Given the description of an element on the screen output the (x, y) to click on. 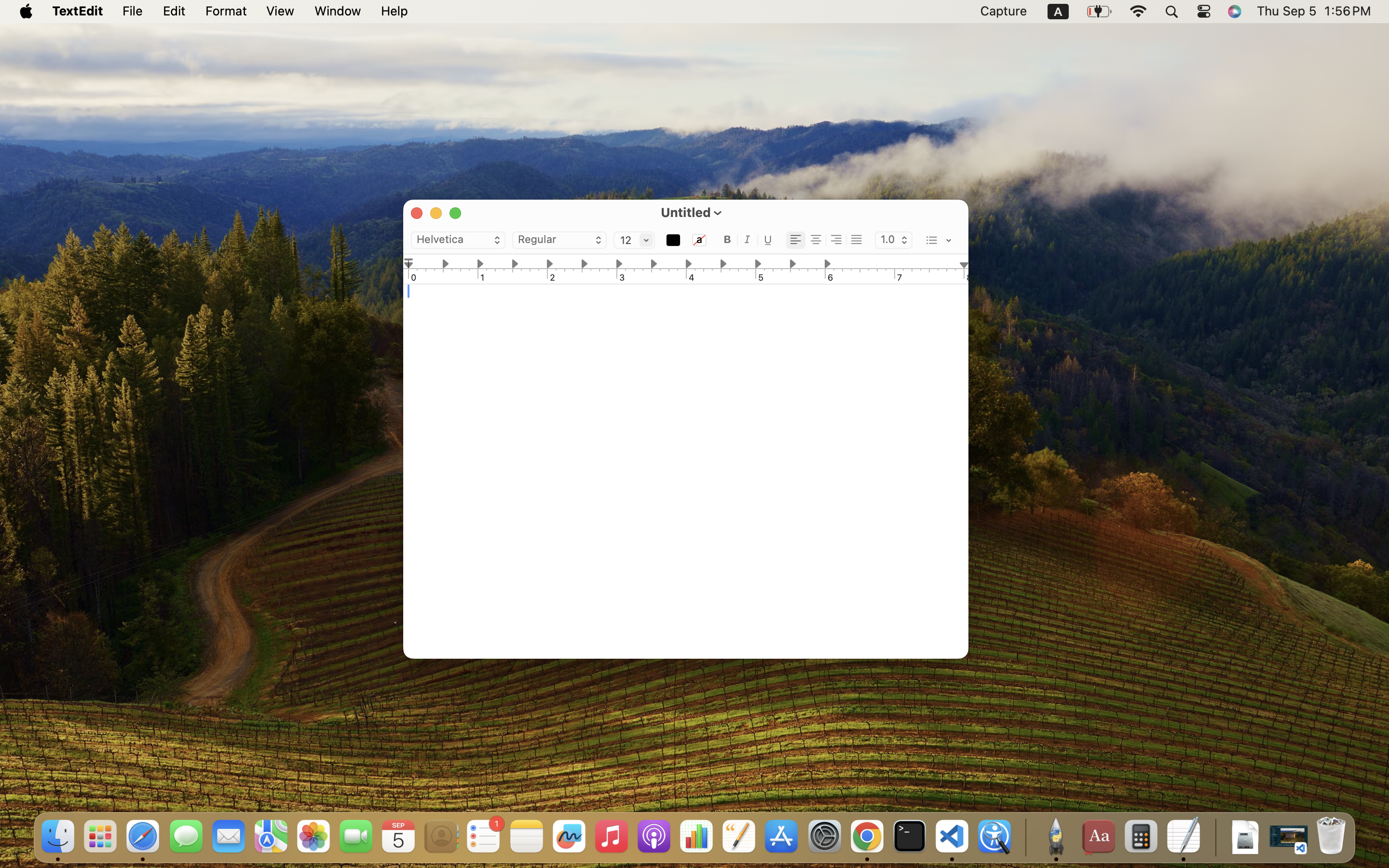
Helvetica Element type: AXPopUpButton (457, 240)
rgb 0 0 0 1 Element type: AXColorWell (672, 240)
1.0 Element type: AXPopUpButton (893, 240)
0.0 Element type: AXRulerMarker (408, 263)
